Given the description of an element on the screen output the (x, y) to click on. 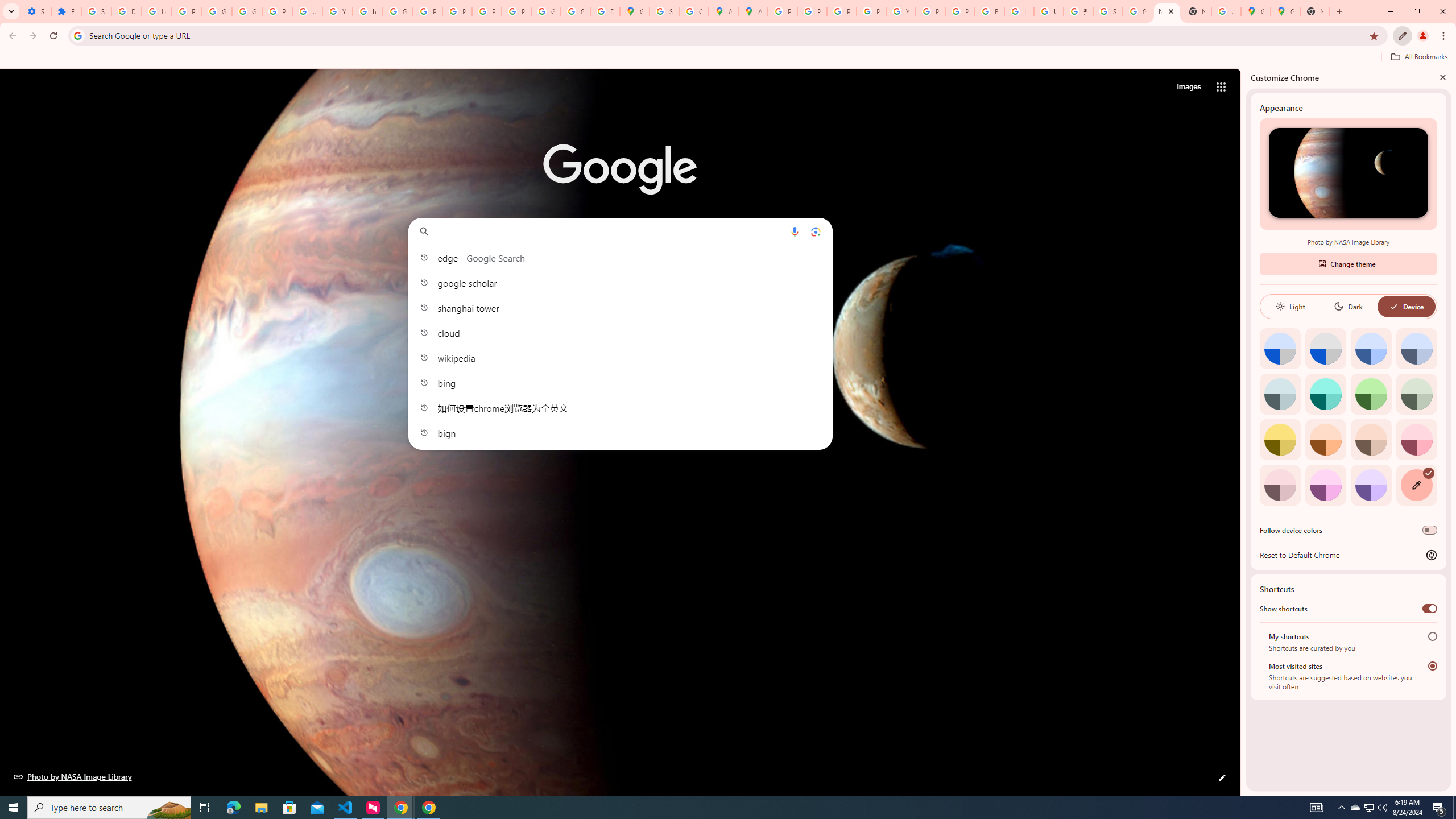
Photo by NASA Image Library (1348, 172)
Browse Chrome as a guest - Computer - Google Chrome Help (989, 11)
AutomationID: svg (1428, 472)
Sign in - Google Accounts (1107, 11)
Most visited sites (1432, 665)
All Bookmarks (1418, 56)
Sign in - Google Accounts (664, 11)
AutomationID: baseSvg (1394, 306)
Viridian (1416, 393)
Dark (1348, 305)
Customize Chrome (1402, 35)
